Given the description of an element on the screen output the (x, y) to click on. 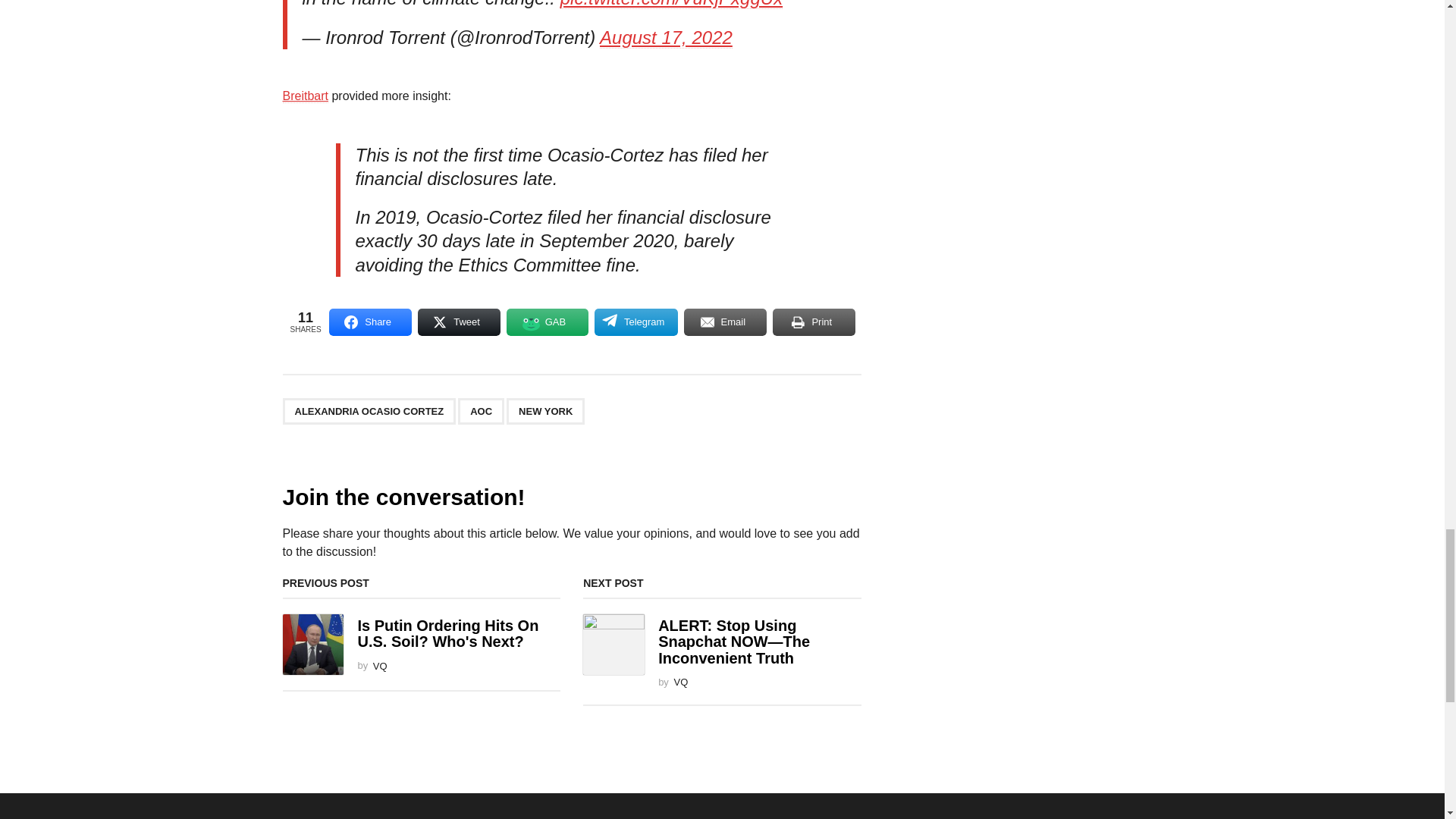
Share on Telegram (635, 321)
Share on Share (370, 321)
Share on Tweet (458, 321)
Share on GAB (547, 321)
